Given the description of an element on the screen output the (x, y) to click on. 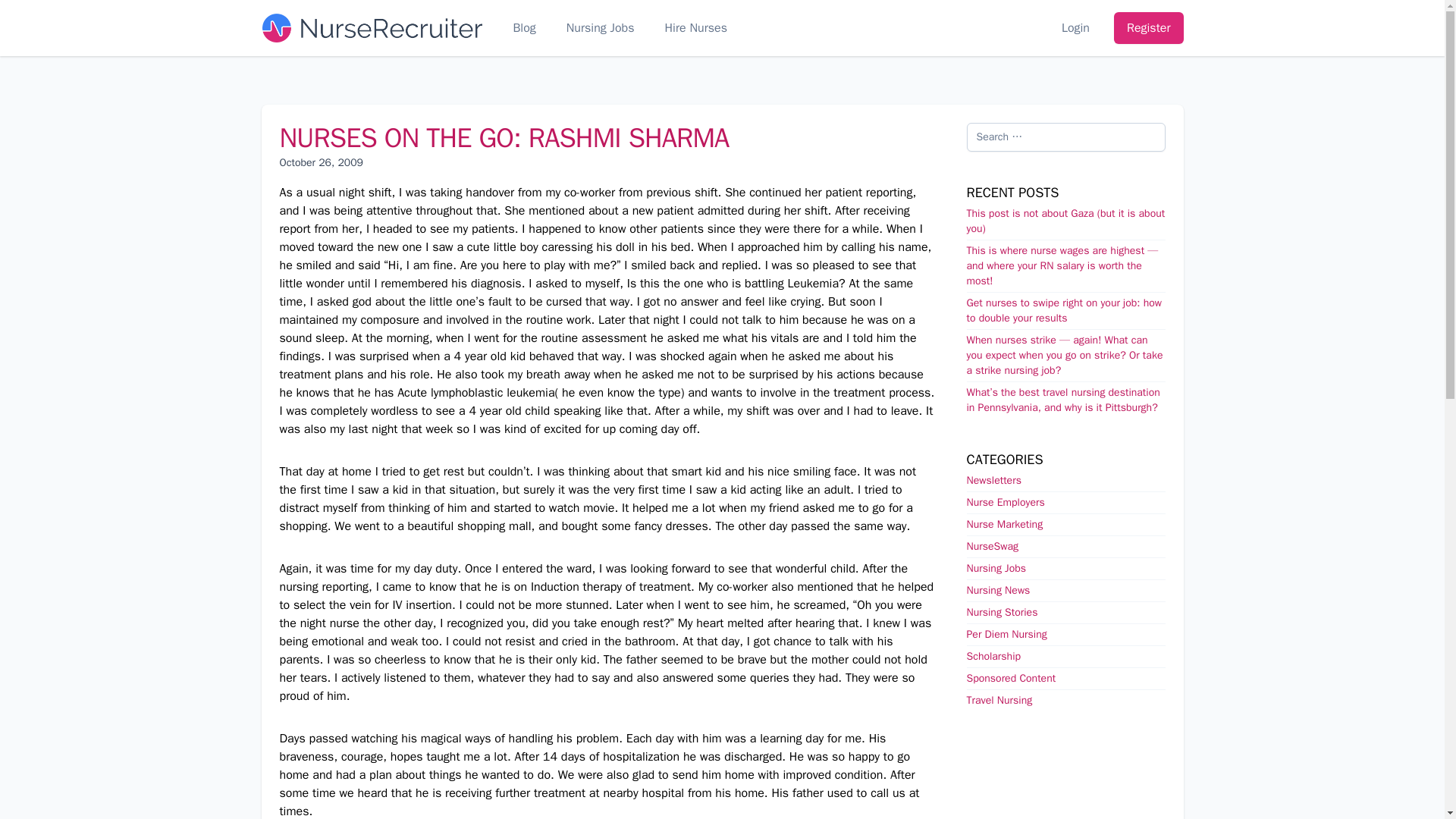
Newsletters (993, 480)
Hire Nurses (695, 27)
NurseSwag (991, 545)
Nurse Marketing (1004, 523)
NURSES ON THE GO: RASHMI SHARMA (504, 137)
Nursing News (997, 590)
Nursing Stories (1001, 612)
Login (1075, 27)
Sponsored Content (1010, 677)
Per Diem Nursing (1006, 634)
